Given the description of an element on the screen output the (x, y) to click on. 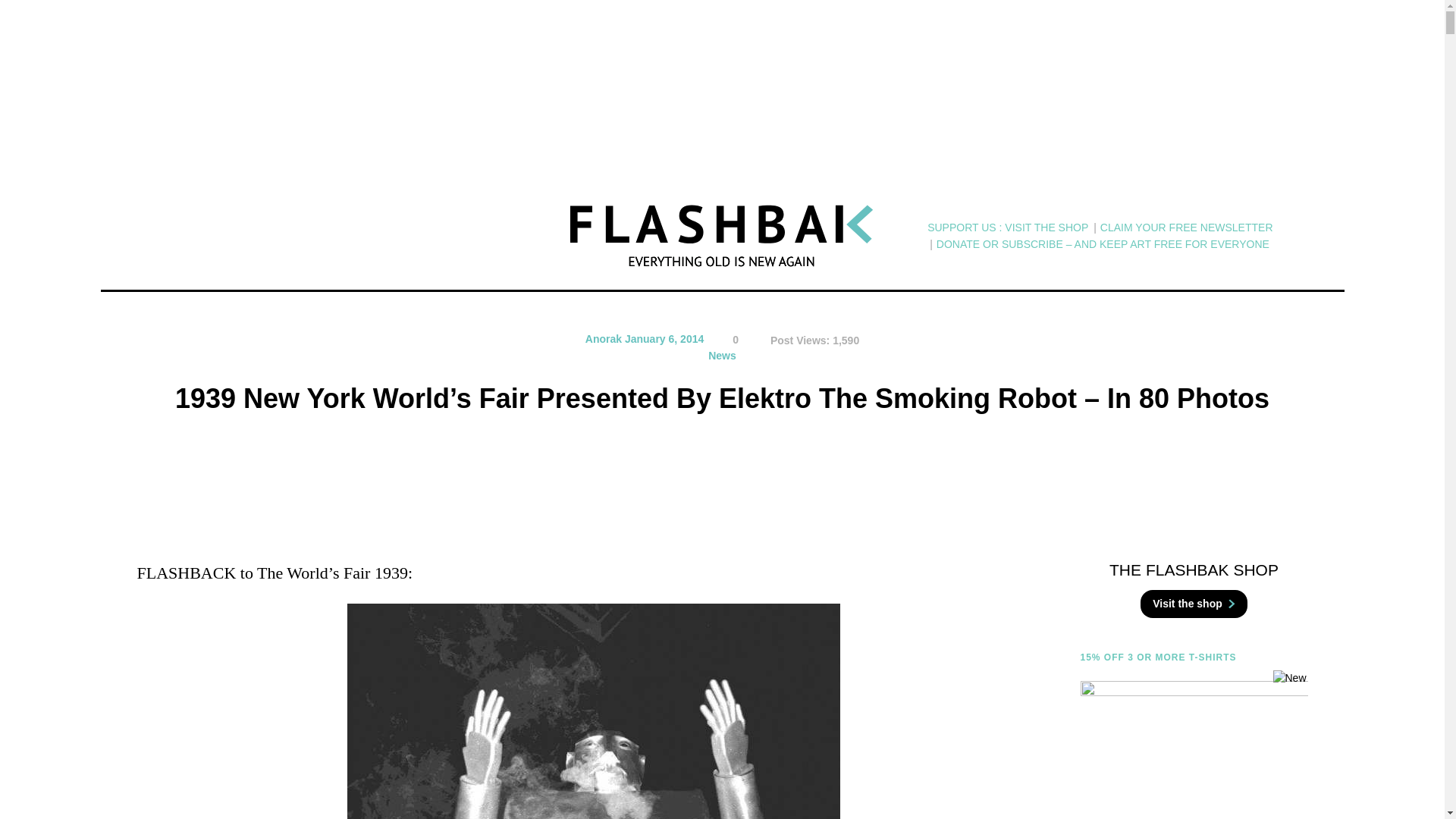
Visit the shop (1193, 603)
Flashbak, Everything Old Is New Again (721, 235)
Anorak (603, 338)
0 (726, 340)
January 6, 2014 (663, 338)
Posts by Anorak (603, 338)
CLAIM YOUR FREE NEWSLETTER (1186, 227)
News (721, 355)
SUPPORT US : VISIT THE SHOP (1007, 227)
